Given the description of an element on the screen output the (x, y) to click on. 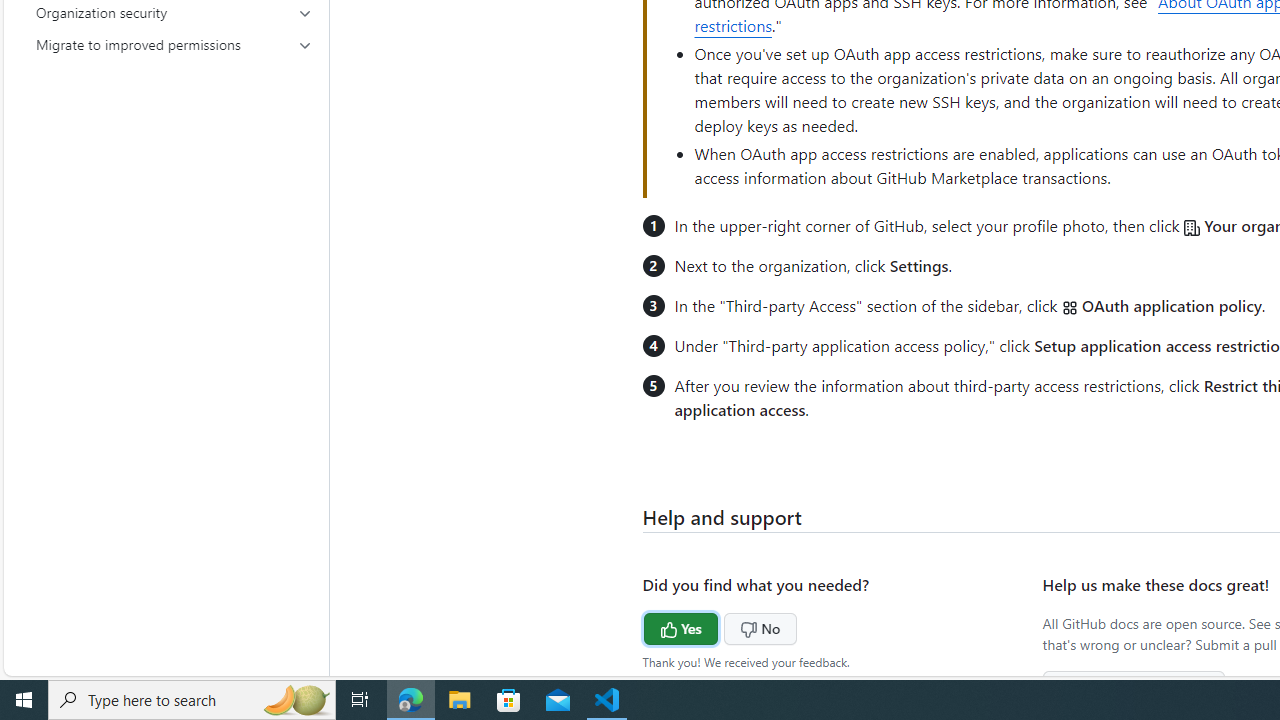
Yes (643, 625)
Migrate to improved permissions (174, 44)
Migrate to improved permissions (174, 44)
No (722, 625)
Make a contribution (1133, 686)
